Given the description of an element on the screen output the (x, y) to click on. 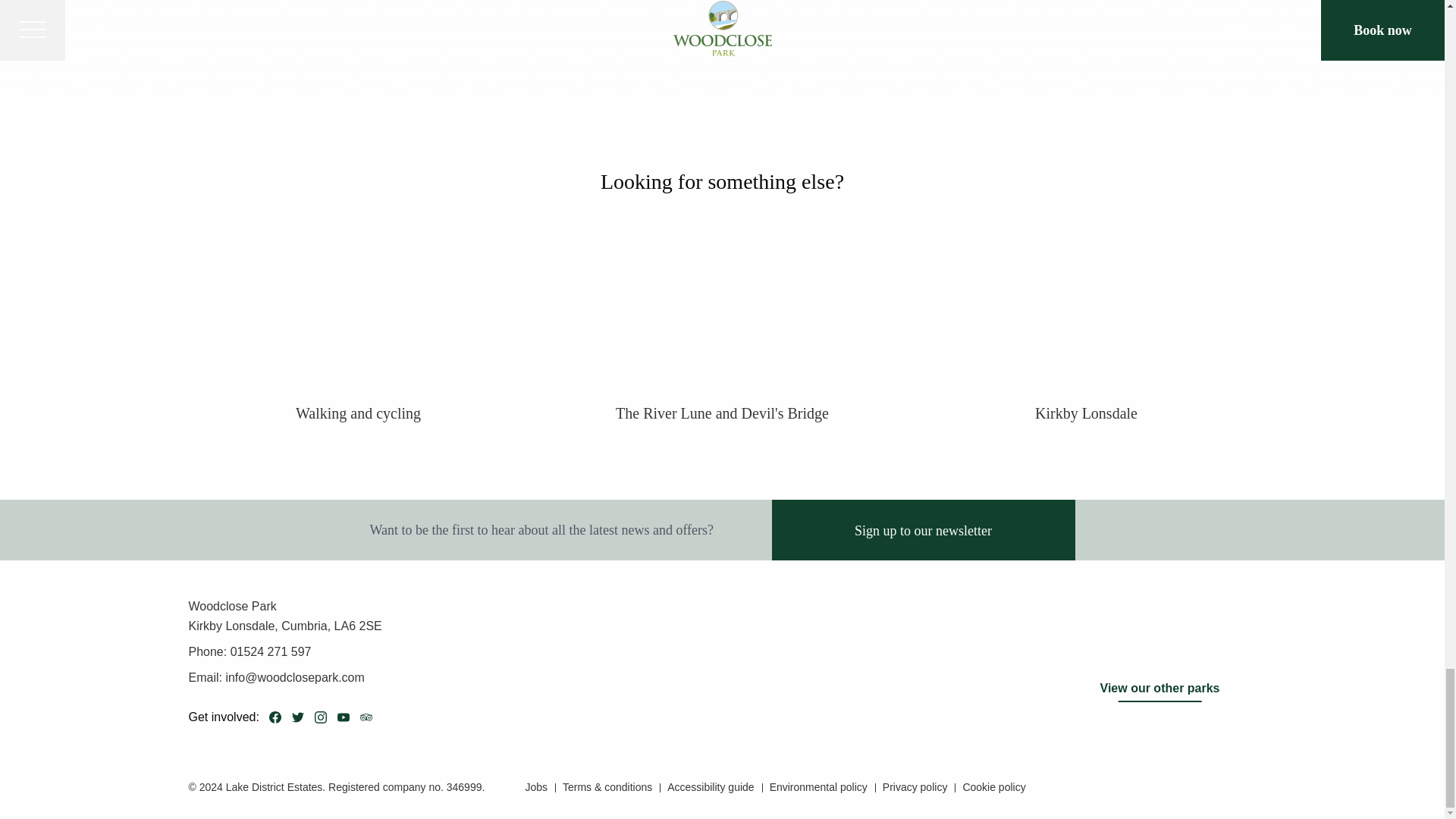
The River Lune and Devil's Bridge (722, 413)
Sign up to our newsletter (923, 529)
Find Woodclose Park on YouTube (343, 717)
Find Woodclose Park on Tripadvisor (365, 717)
Find Woodclose Park on Facebook (274, 717)
Twitter (297, 717)
01524 271 597 (269, 651)
Find Woodclose Park on Instagram (320, 717)
Kirkby Lonsdale (1086, 413)
Facebook (274, 717)
